Given the description of an element on the screen output the (x, y) to click on. 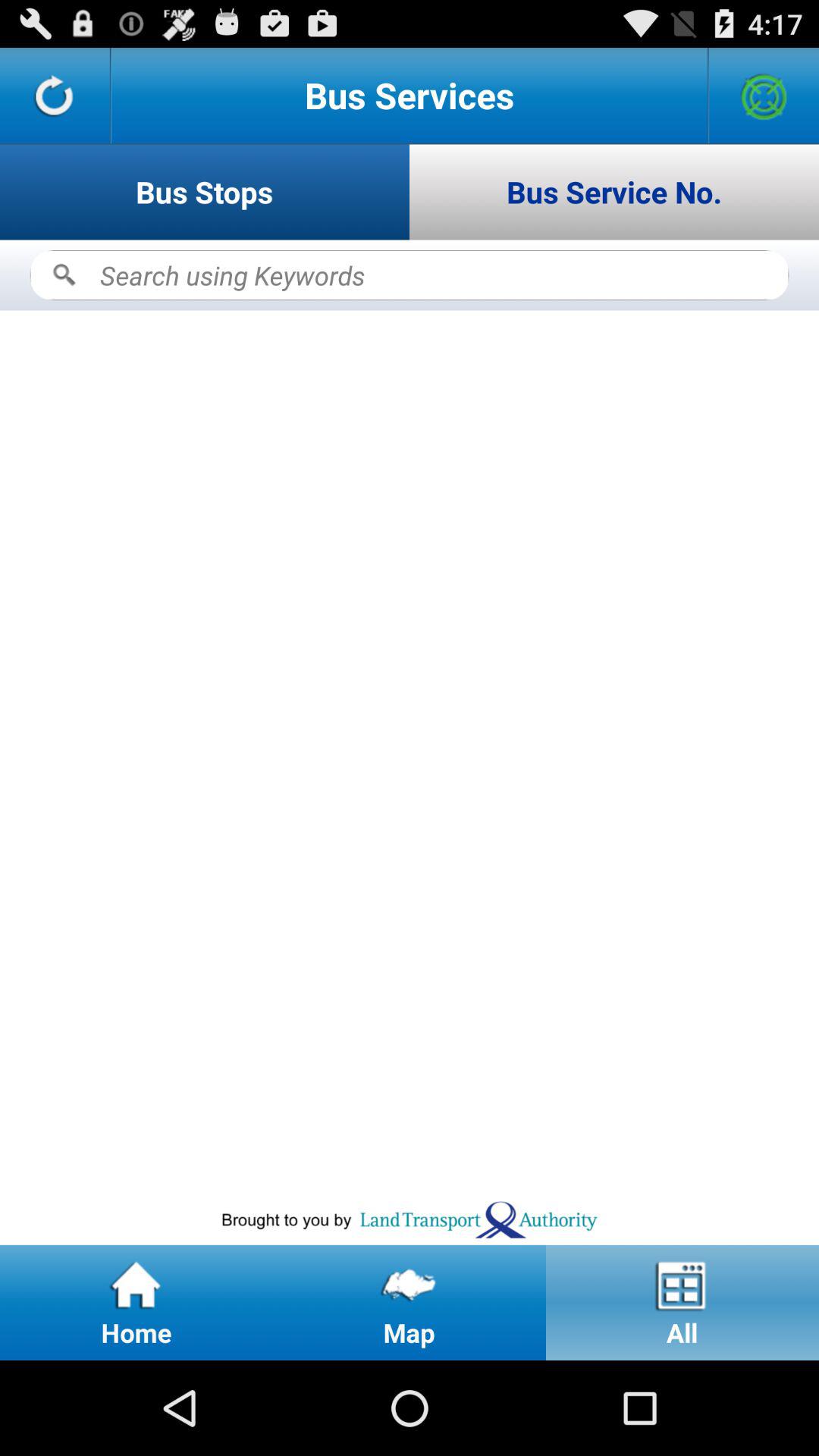
refresh the bus stops list (54, 95)
